Given the description of an element on the screen output the (x, y) to click on. 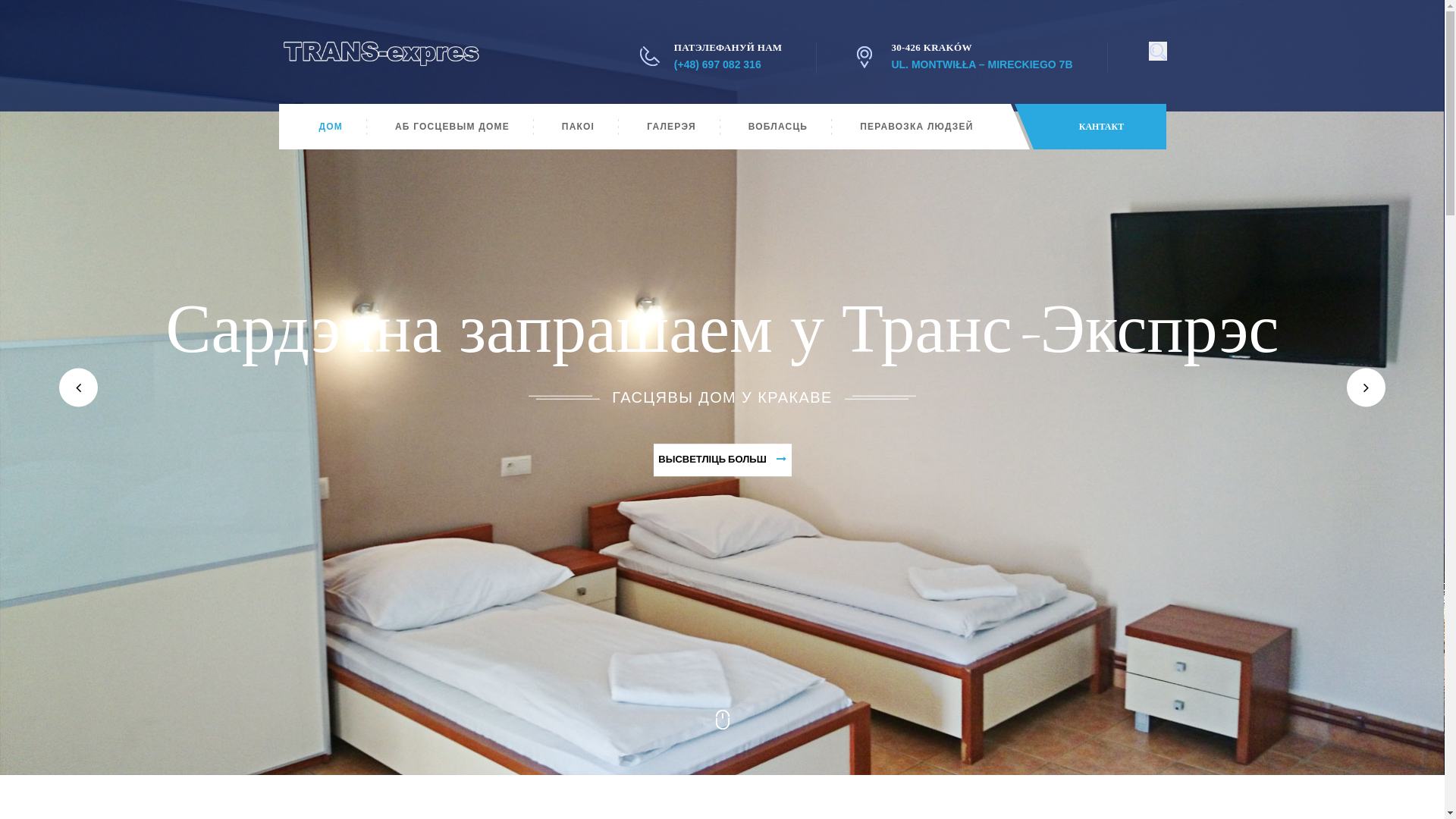
Go to Next Element type: hover (722, 719)
Trans-Expres Element type: hover (381, 52)
(+48) 697 082 316 Element type: text (717, 64)
